Given the description of an element on the screen output the (x, y) to click on. 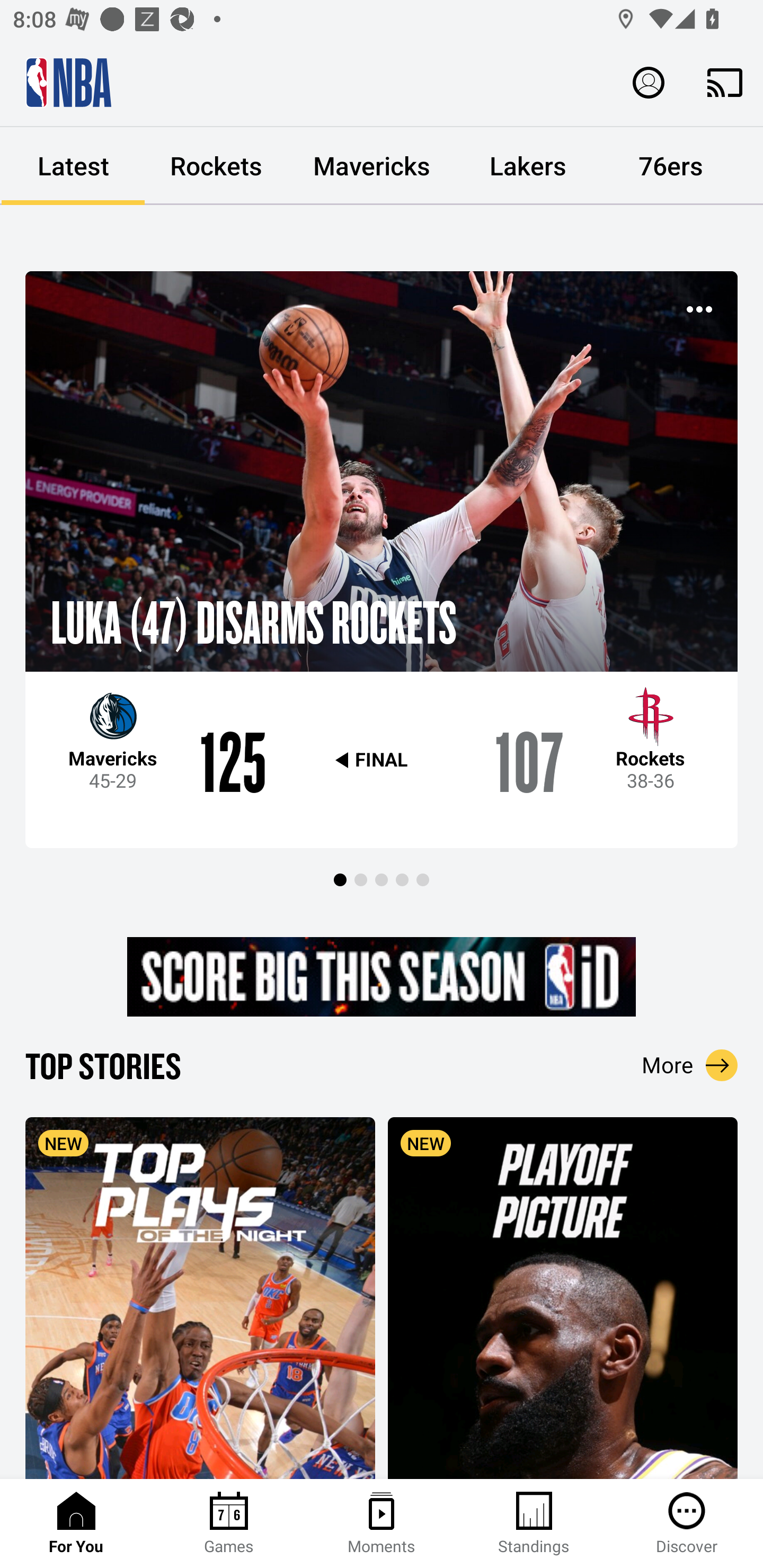
Cast. Disconnected (724, 82)
Profile (648, 81)
Rockets (215, 166)
Mavericks (371, 166)
Lakers (527, 166)
76ers (670, 166)
TOP STORIES More NEW NEW (381, 1260)
More (689, 1064)
NEW (200, 1297)
NEW (562, 1297)
Games (228, 1523)
Moments (381, 1523)
Standings (533, 1523)
Discover (686, 1523)
